Given the description of an element on the screen output the (x, y) to click on. 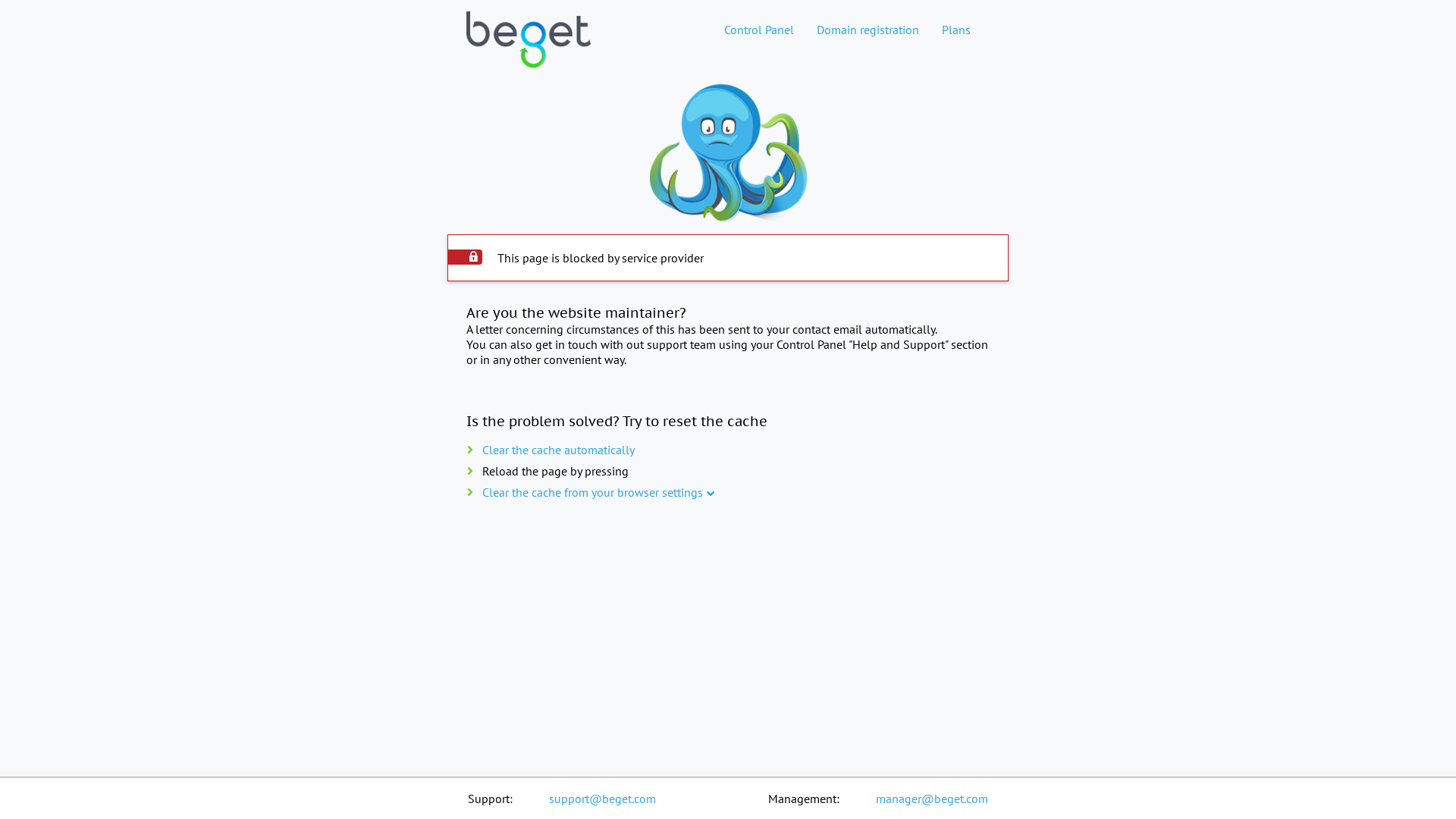
Web hosting home page Element type: hover (528, 51)
Plans Element type: text (956, 29)
Domain registration Element type: text (867, 29)
Clear the cache automatically Element type: text (558, 449)
Clear the cache from your browser settings Element type: text (592, 491)
manager@beget.com Element type: text (931, 798)
Control Panel Element type: text (758, 29)
support@beget.com Element type: text (602, 798)
